Given the description of an element on the screen output the (x, y) to click on. 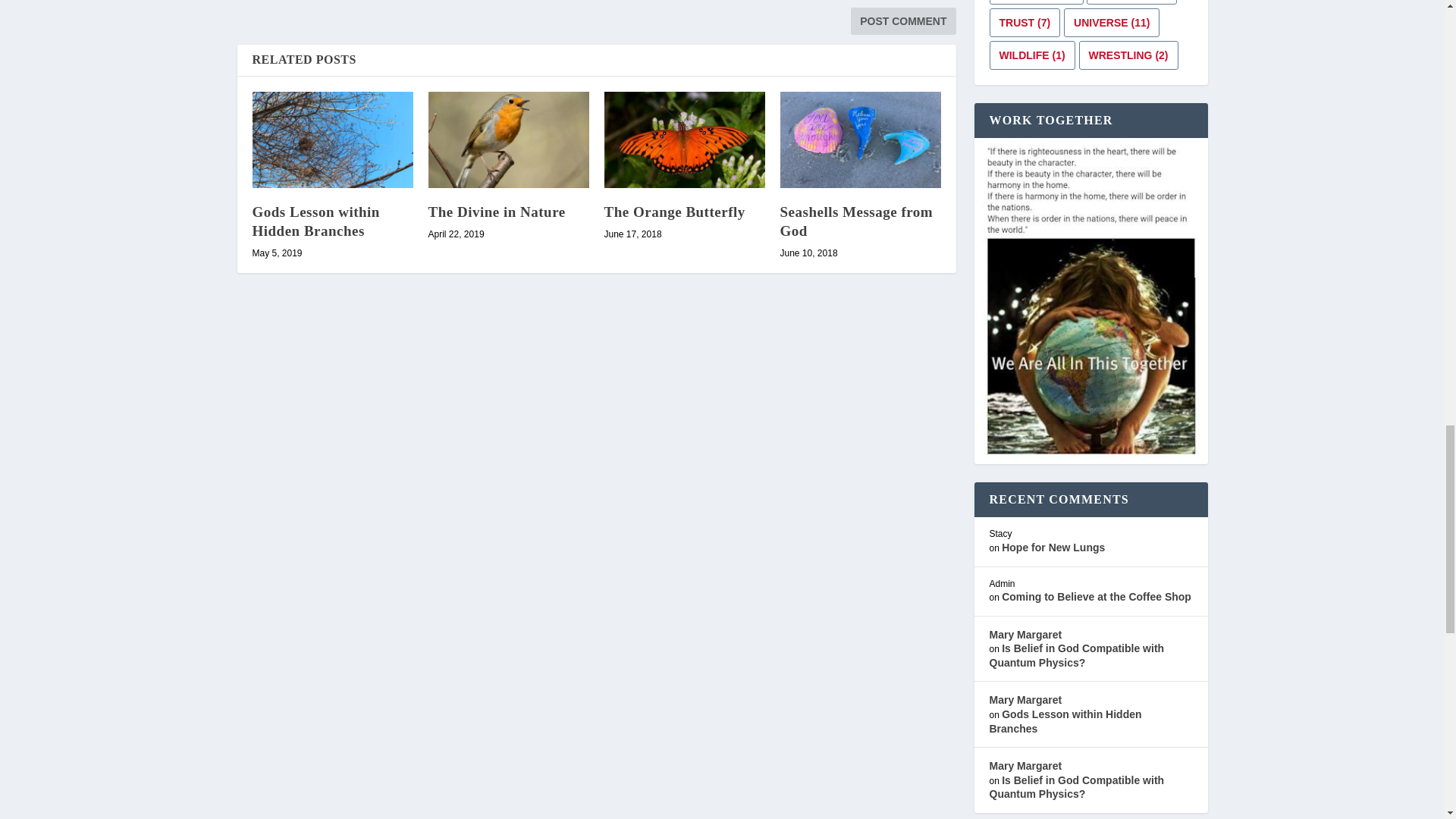
Post Comment (902, 21)
